Given the description of an element on the screen output the (x, y) to click on. 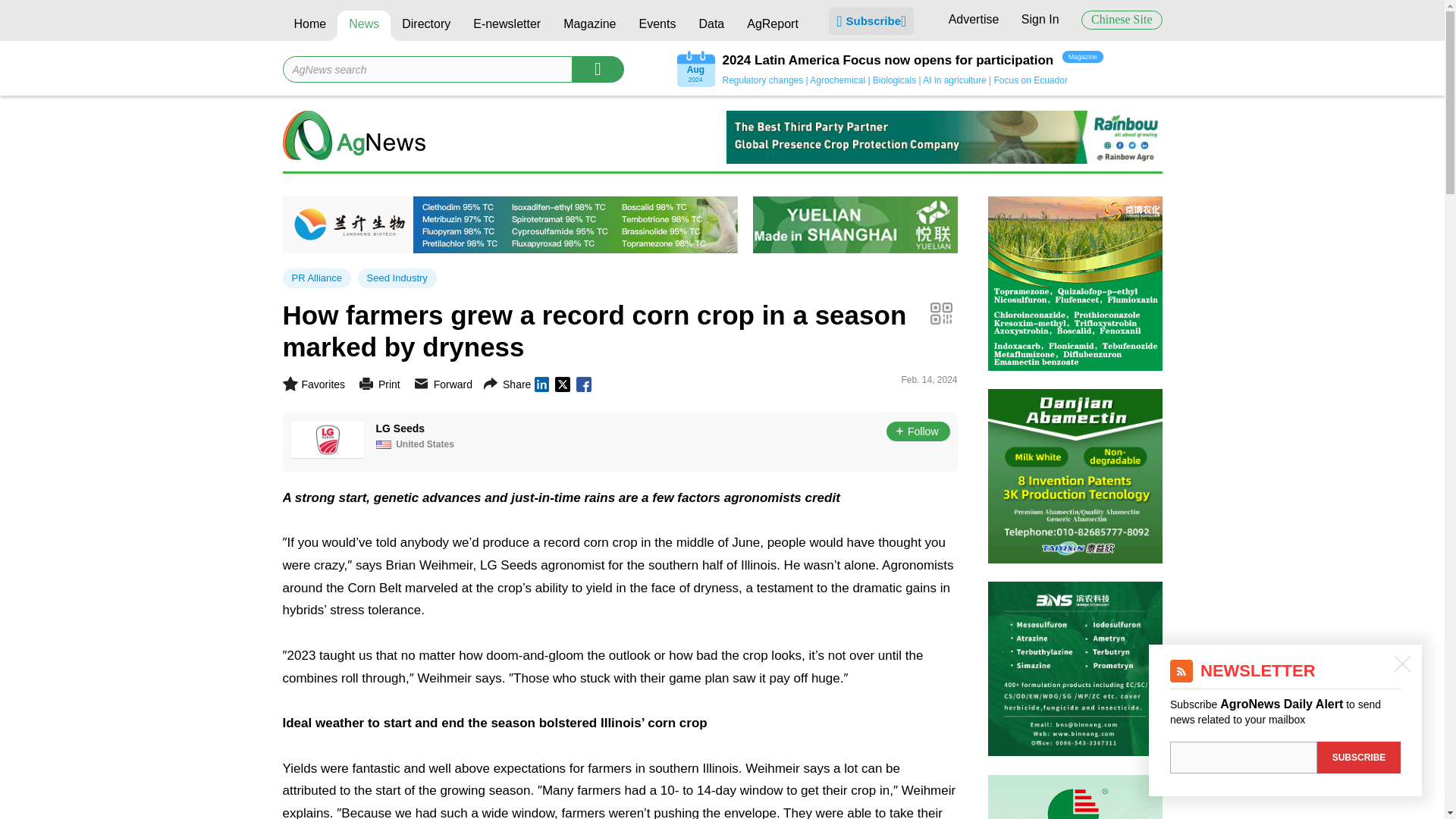
Events (657, 25)
E-newsletter (506, 25)
Home (309, 25)
Magazine (589, 25)
AgReport (772, 25)
Chinese Site (1121, 19)
Advertise (973, 19)
News (363, 25)
2024 Latin America Focus now opens for participation (887, 60)
SUBSCRIBE (1358, 757)
